Given the description of an element on the screen output the (x, y) to click on. 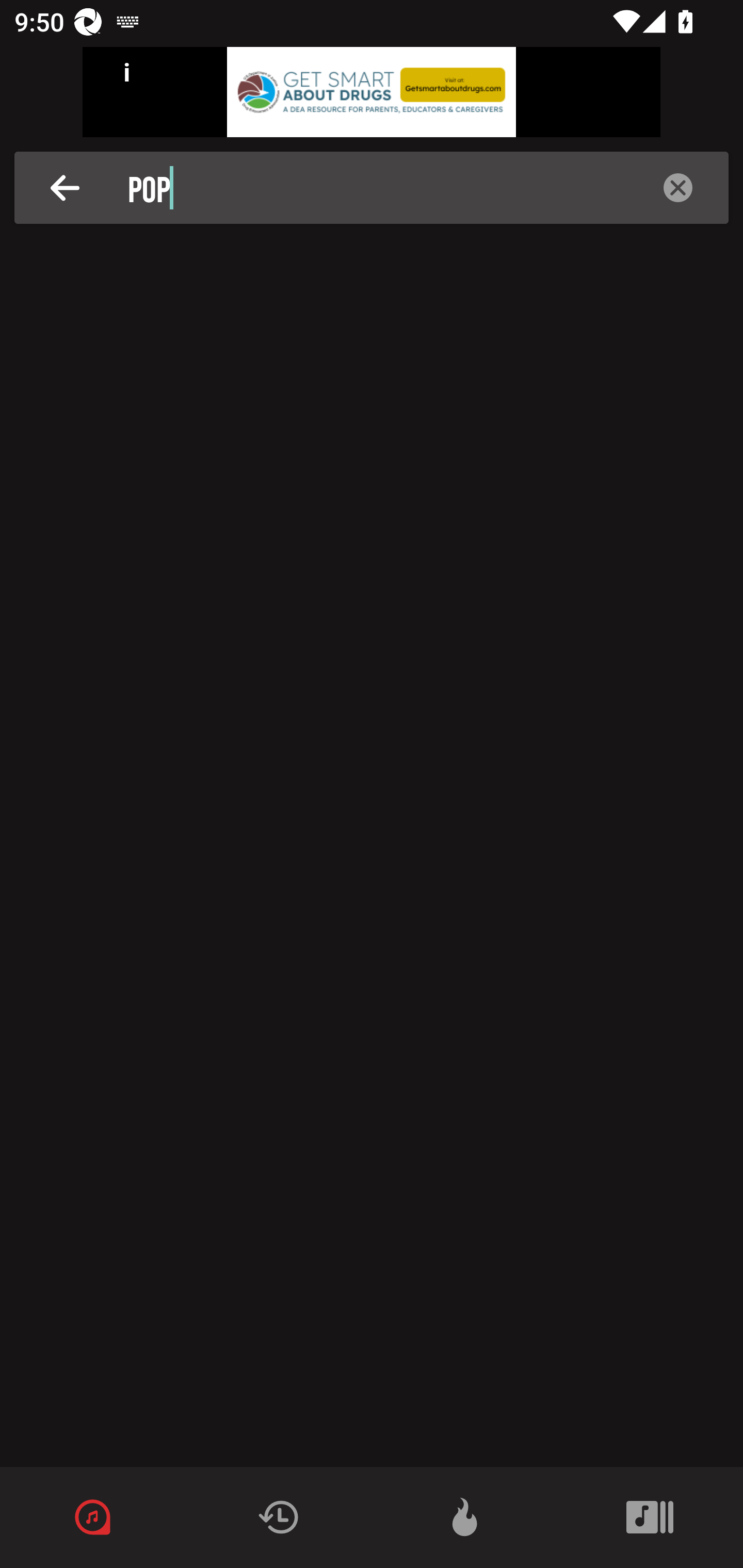
Pop (377, 188)
Description (64, 188)
Description (677, 188)
